Given the description of an element on the screen output the (x, y) to click on. 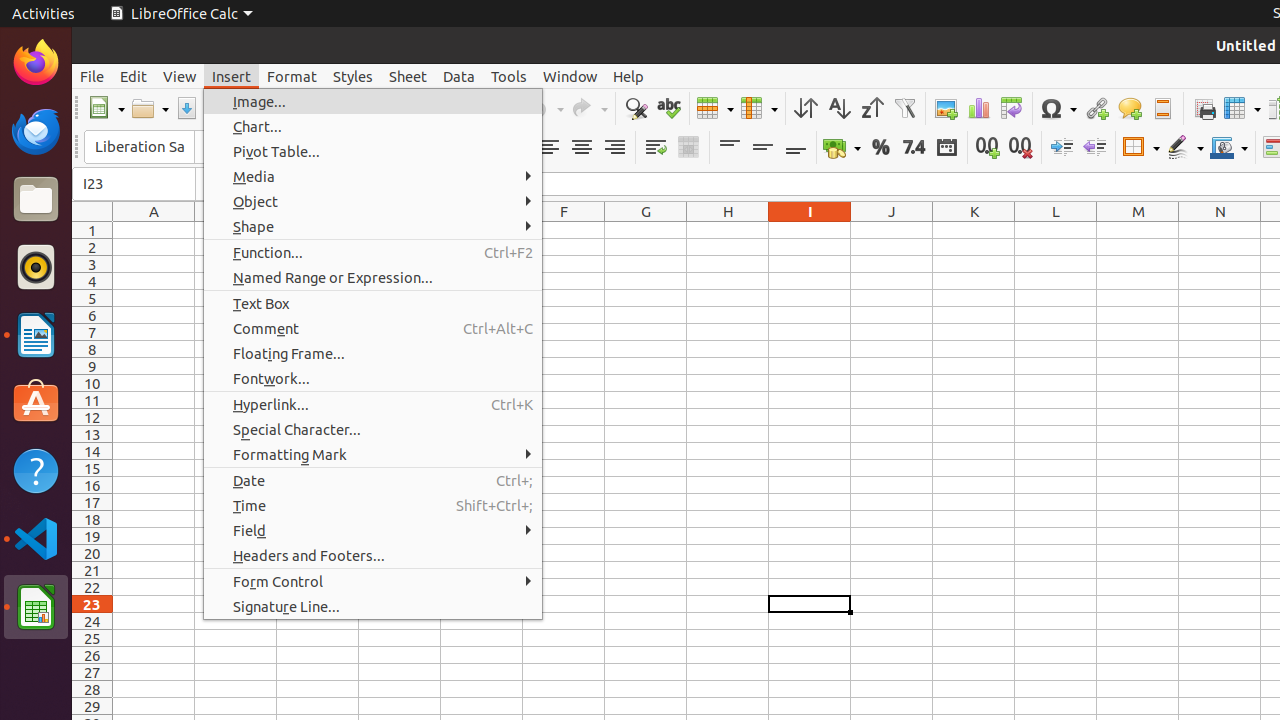
Column Element type: push-button (759, 108)
Window Element type: menu (570, 76)
Field Element type: menu (373, 530)
G1 Element type: table-cell (646, 230)
